Given the description of an element on the screen output the (x, y) to click on. 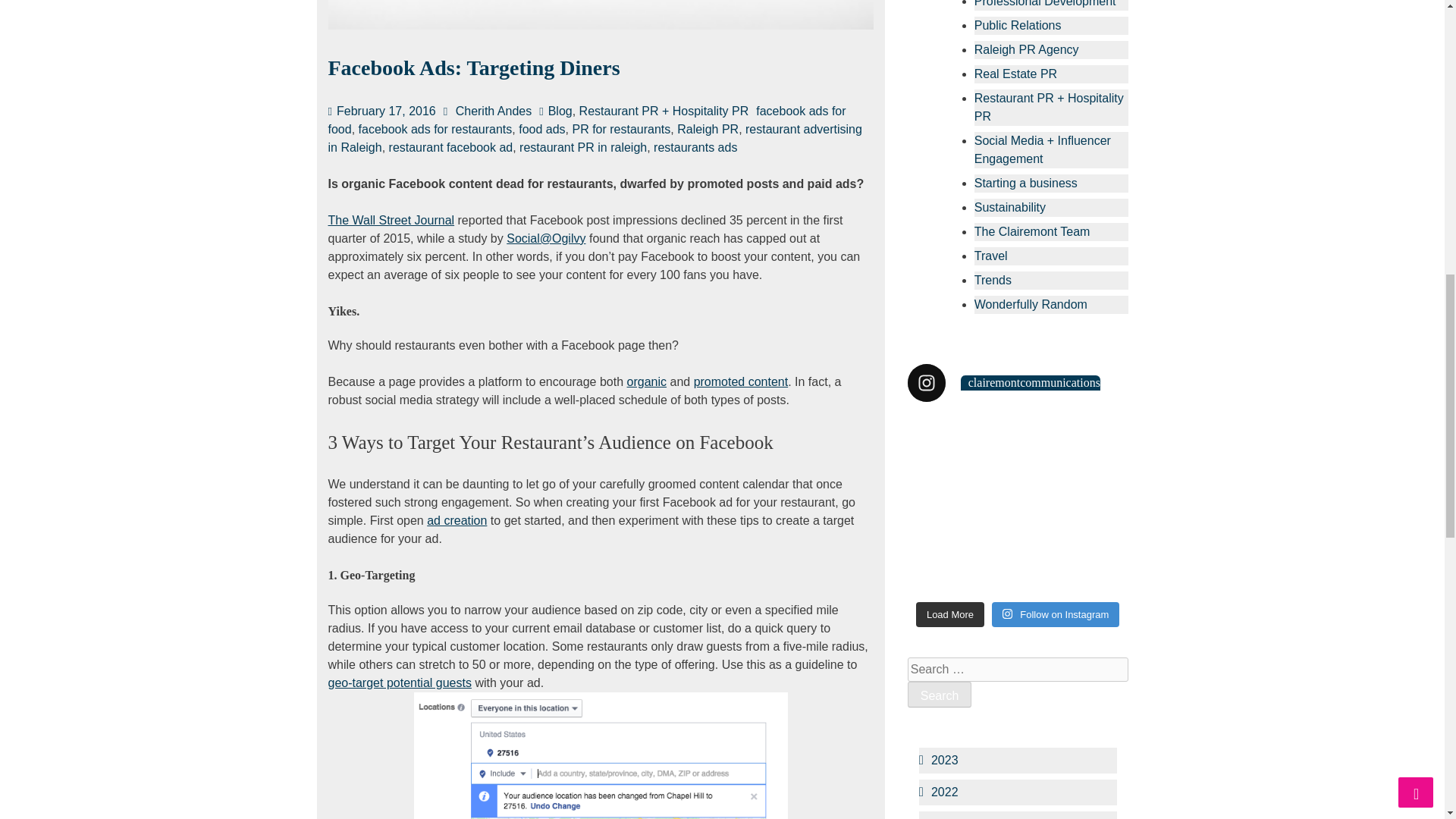
Blog (560, 110)
restaurant facebook ad (450, 146)
February 17, 2016 (384, 110)
Facebook Ads: Targeting Diners (473, 67)
Search (939, 694)
Raleigh PR (707, 128)
food ads (541, 128)
PR for restaurants (620, 128)
facebook ads for food (586, 119)
restaurant advertising in Raleigh (594, 137)
